Given the description of an element on the screen output the (x, y) to click on. 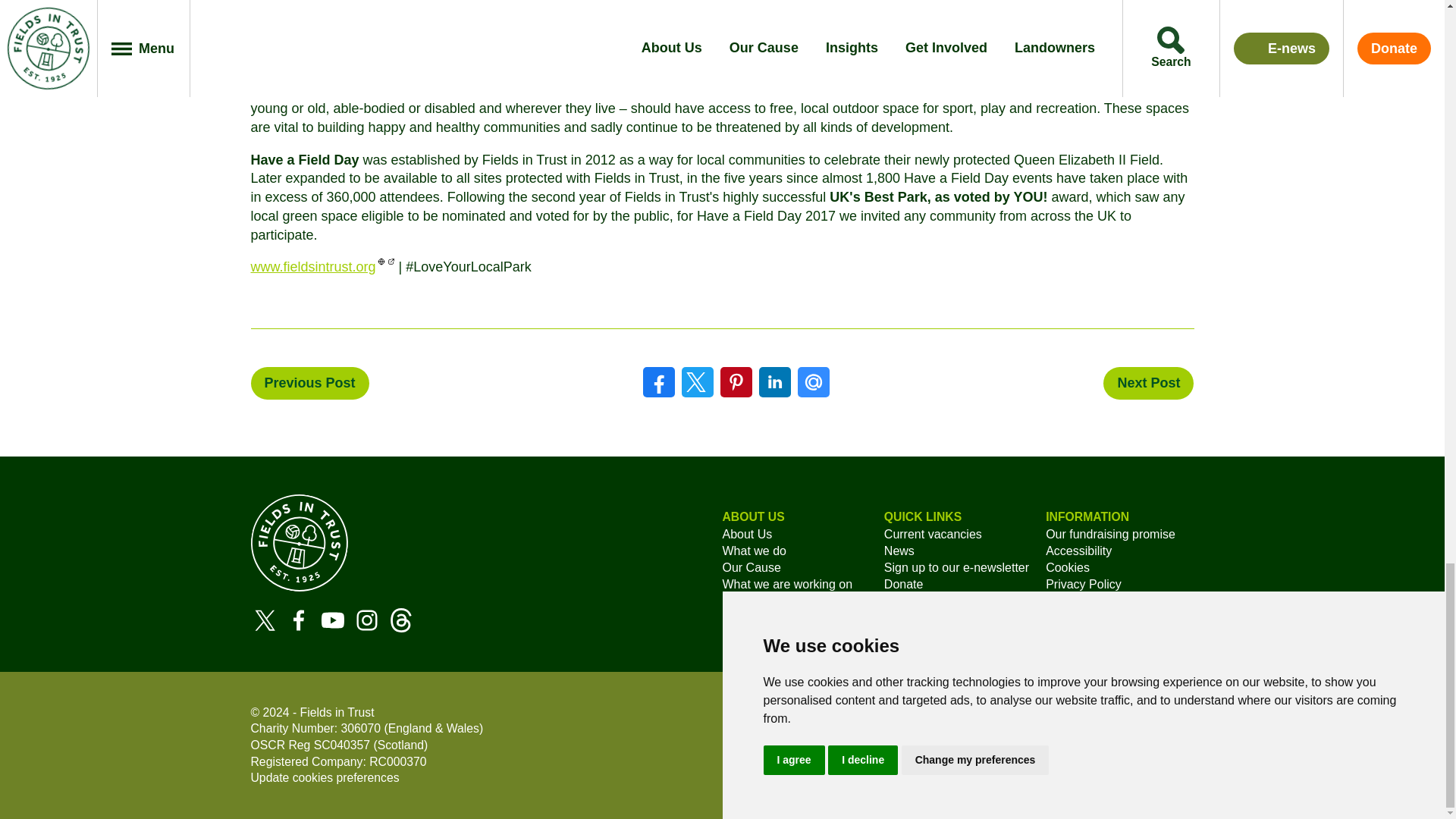
The Scottish Charity Regulator (267, 744)
